Given the description of an element on the screen output the (x, y) to click on. 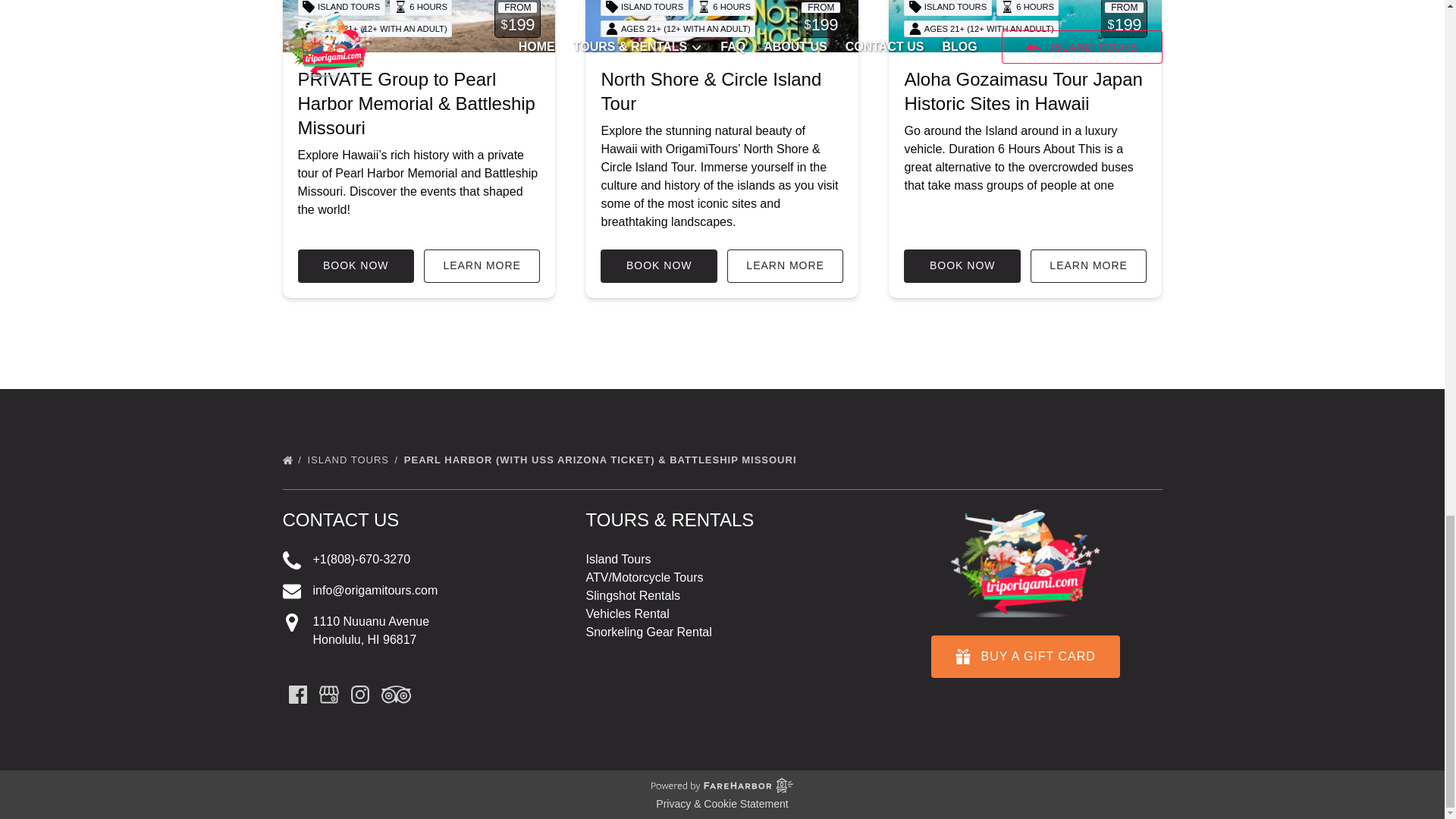
ISLAND TOURS (353, 460)
Visit our Facebook (296, 694)
activity link (722, 26)
Visit our Instagram (359, 694)
activity link (418, 26)
BOOK NOW (962, 265)
Aloha Gozaimasu Tour Japan Historic Sites in Hawaii (1022, 90)
Phone (290, 560)
LEARN MORE (481, 265)
BOOK NOW (355, 265)
Visit our Google My Business Profile (327, 694)
LEARN MORE (785, 265)
Map Marker (290, 622)
LEARN MORE (1088, 265)
activity link (1024, 26)
